Given the description of an element on the screen output the (x, y) to click on. 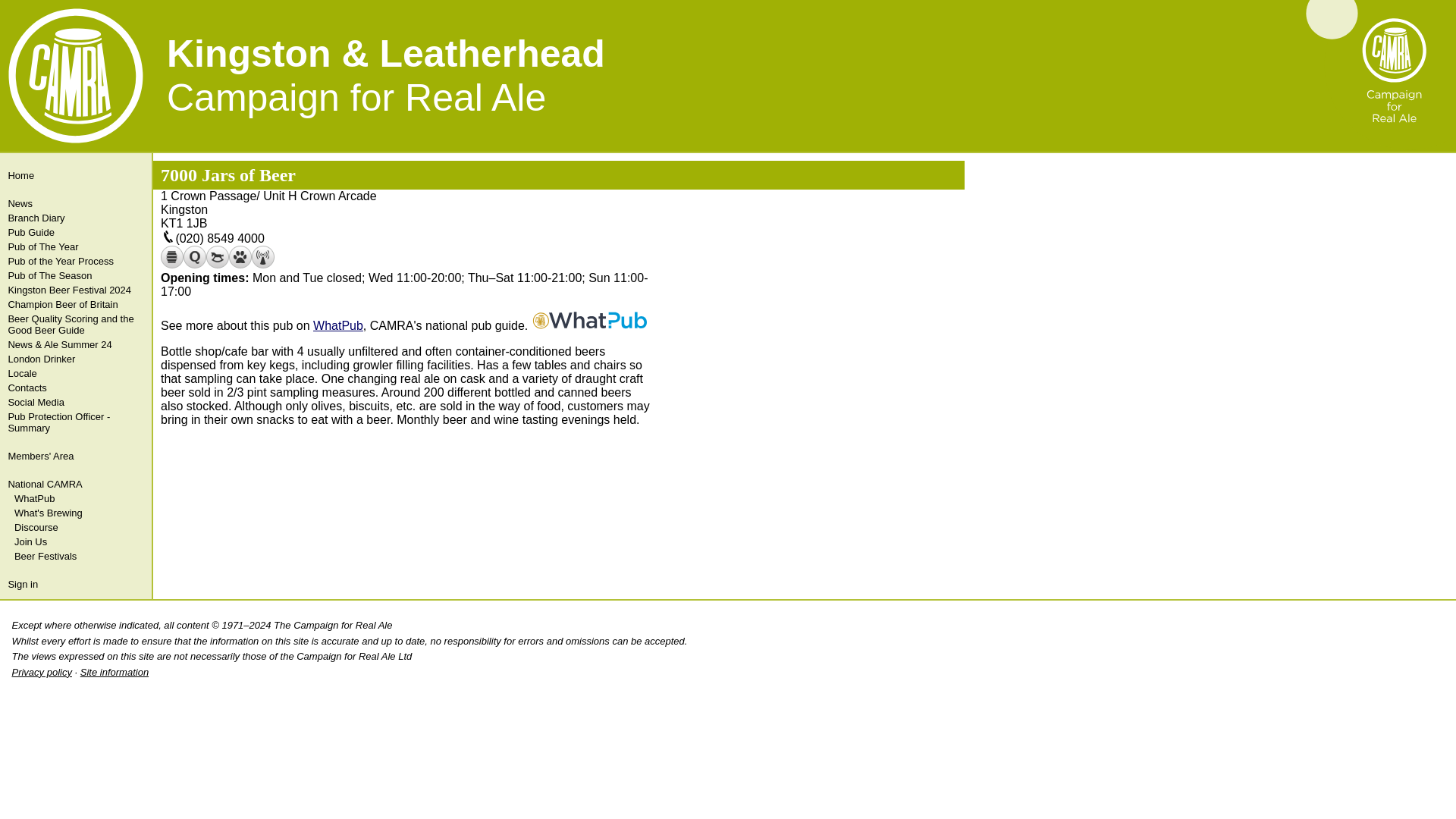
National CAMRA (74, 483)
Home (74, 175)
London Drinker (74, 359)
Pub of The Year (74, 246)
Champion Beer of Britain (74, 304)
WhatPub - CAMRA's national pub guide (75, 498)
Members' Area (74, 455)
Pub Protection Officer - Summary (74, 421)
Site information (114, 672)
The national CAMRA site (74, 483)
Social Media (74, 401)
Kingston Beer Festival 2024 (74, 289)
News (74, 203)
Pub of The Season (74, 275)
WhatPub (337, 325)
